Given the description of an element on the screen output the (x, y) to click on. 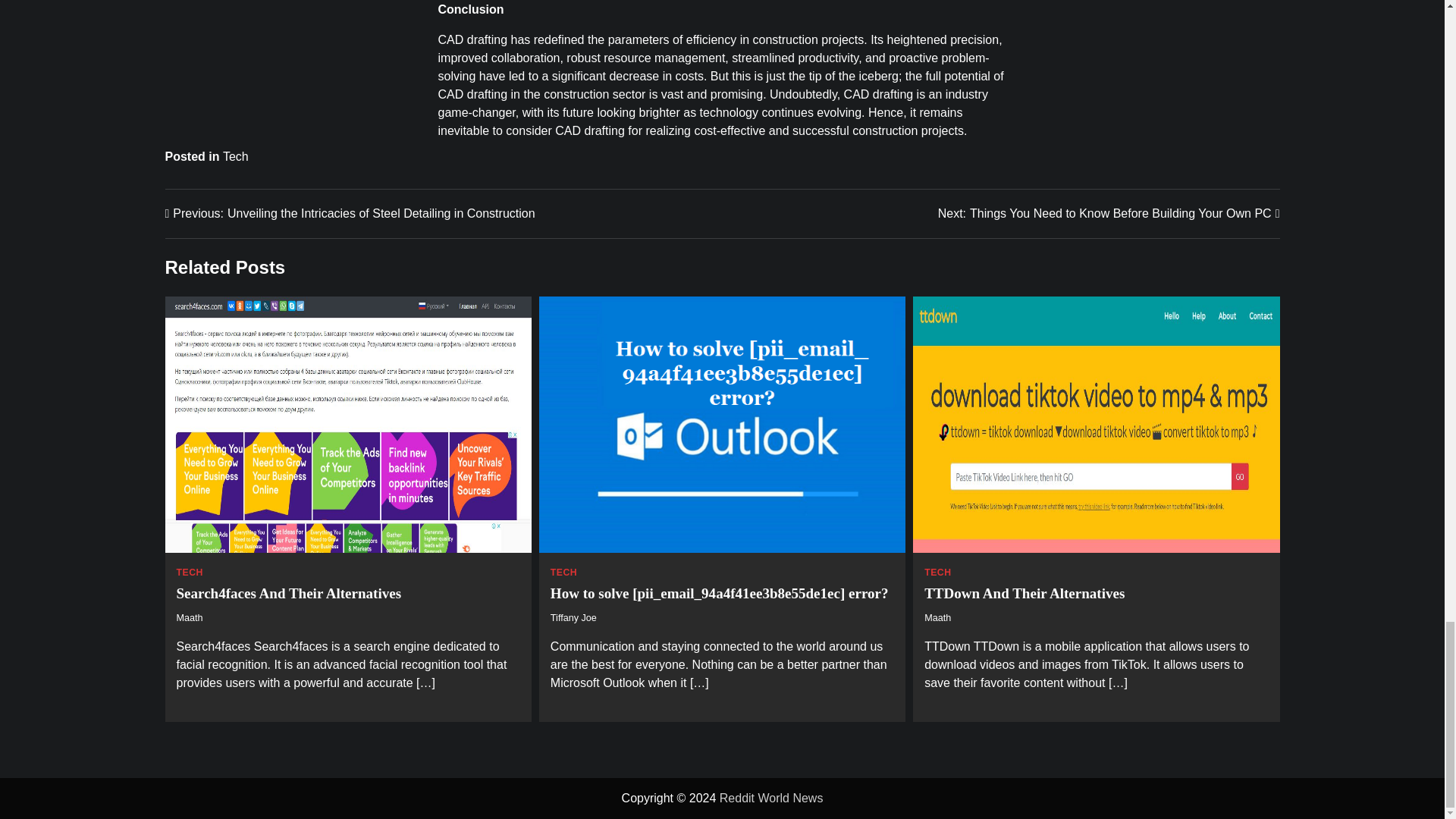
Search4faces And Their Alternatives (288, 593)
Maath (1108, 213)
Tech (189, 617)
TECH (235, 155)
